Given the description of an element on the screen output the (x, y) to click on. 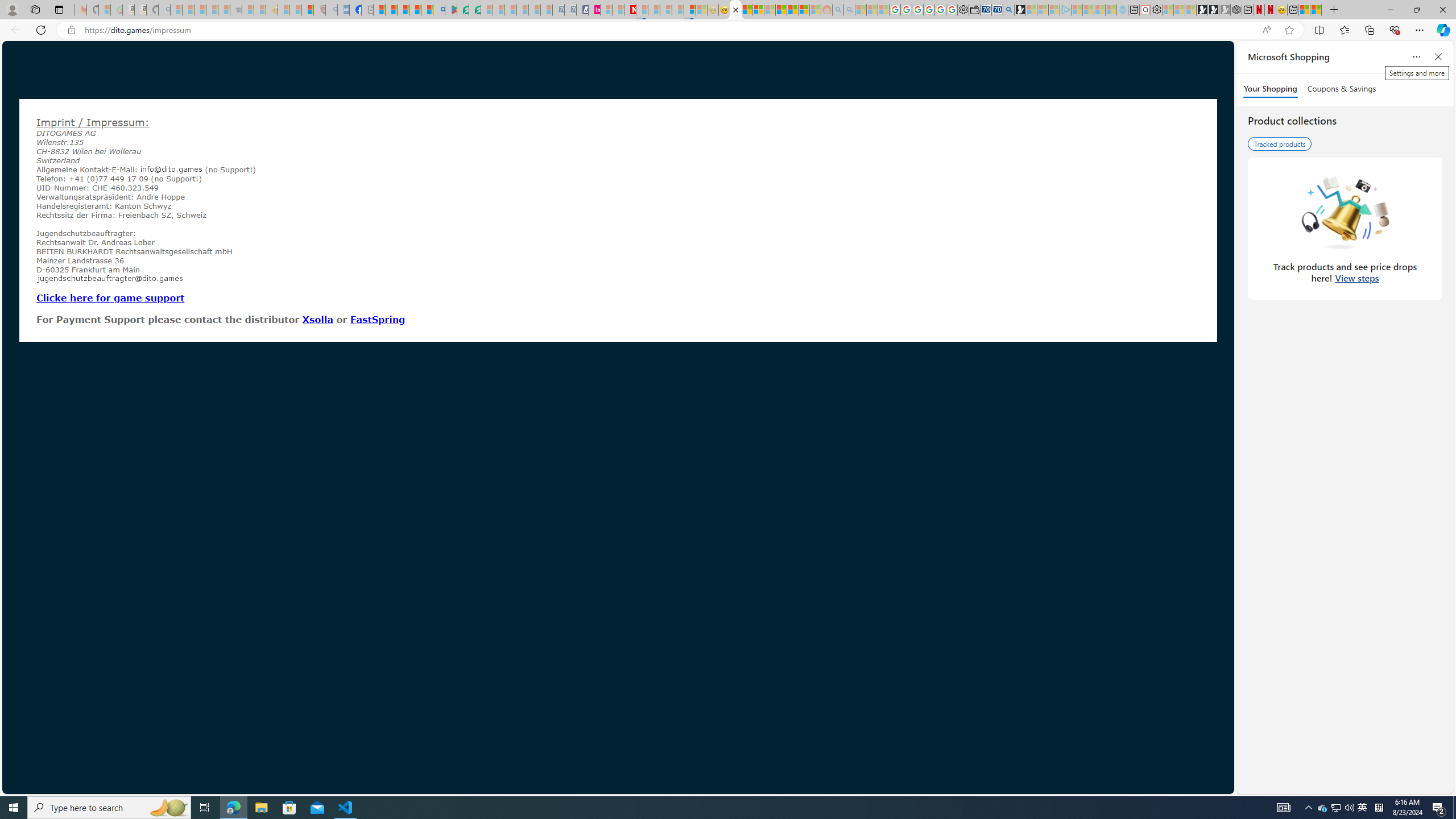
FastSpring (377, 319)
Play Free Online Games | Games from Microsoft Start (1201, 9)
Microsoft Start Gaming (1019, 9)
Home | Sky Blue Bikes - Sky Blue Bikes - Sleeping (1122, 9)
